Given the description of an element on the screen output the (x, y) to click on. 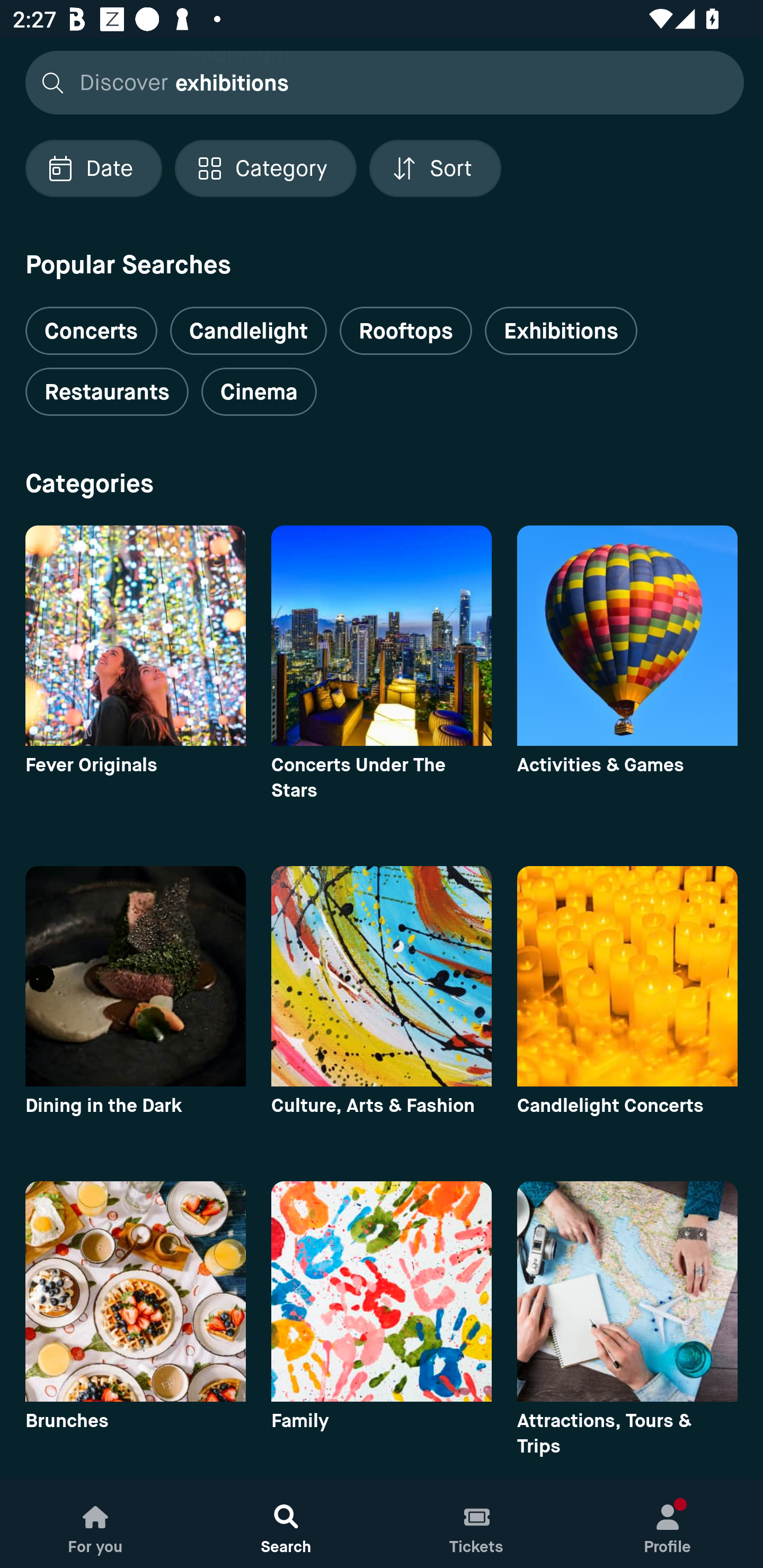
Discover candlelight exhibitions (379, 81)
Localized description Date (93, 168)
Localized description Category (265, 168)
Localized description Sort (435, 168)
Concerts (91, 323)
Candlelight (248, 330)
Rooftops (405, 330)
Exhibitions (560, 330)
Restaurants (106, 391)
Cinema (258, 391)
category image (135, 635)
category image (381, 635)
category image (627, 635)
category image (135, 975)
category image (381, 975)
category image (627, 975)
category image (135, 1290)
category image (381, 1290)
category image (627, 1290)
For you (95, 1523)
Tickets (476, 1523)
Profile, New notification Profile (667, 1523)
